Given the description of an element on the screen output the (x, y) to click on. 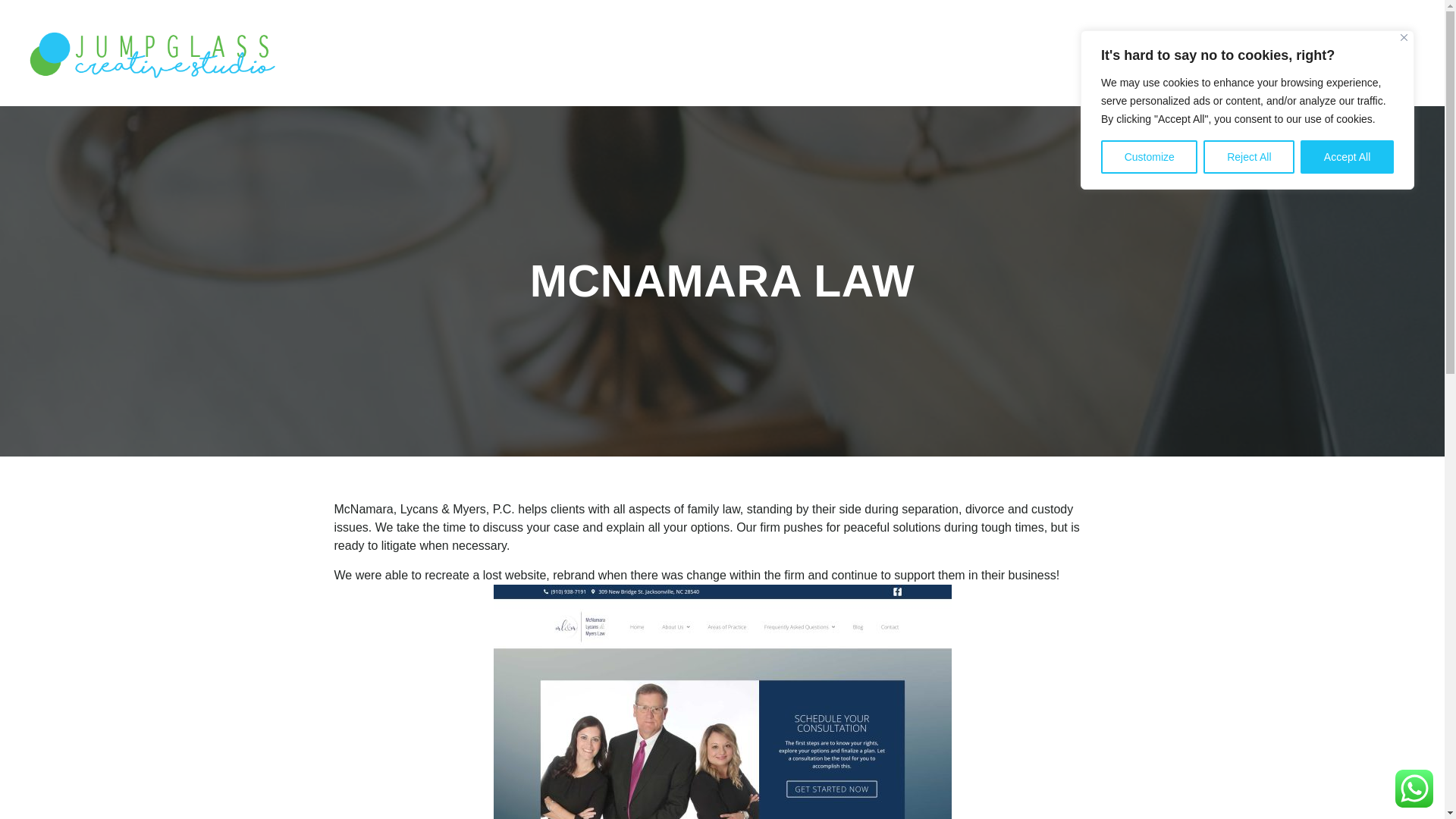
Accept All (1346, 156)
Reject All (1249, 156)
Customize (1148, 156)
